Given the description of an element on the screen output the (x, y) to click on. 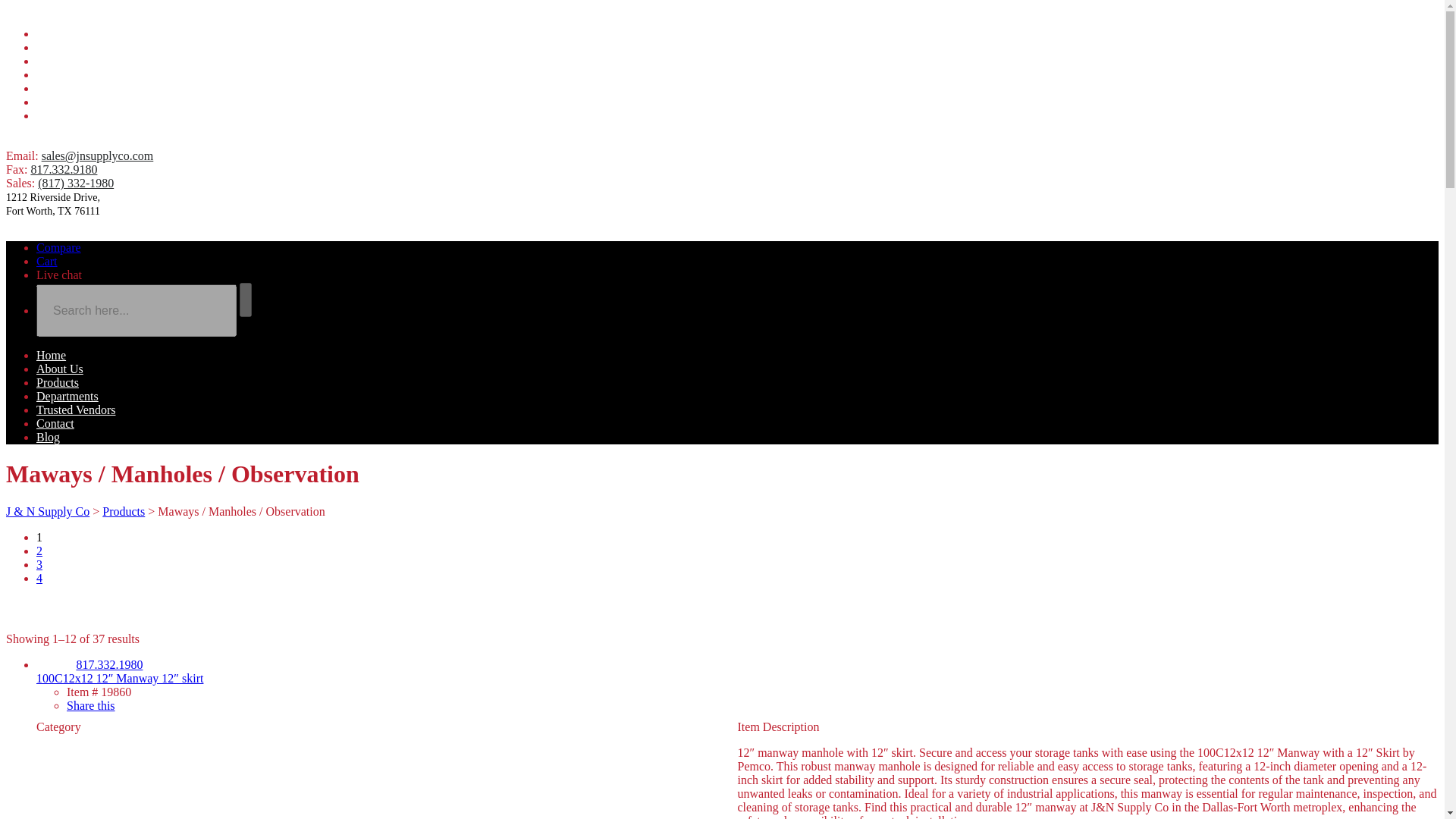
Products (57, 60)
Trusted Vendors (75, 409)
Watch compared (58, 246)
About Us (59, 47)
Home (50, 354)
Watch shop items (47, 260)
Contact (55, 422)
Cart (47, 260)
817.332.1980 (108, 664)
Products (122, 511)
